Given the description of an element on the screen output the (x, y) to click on. 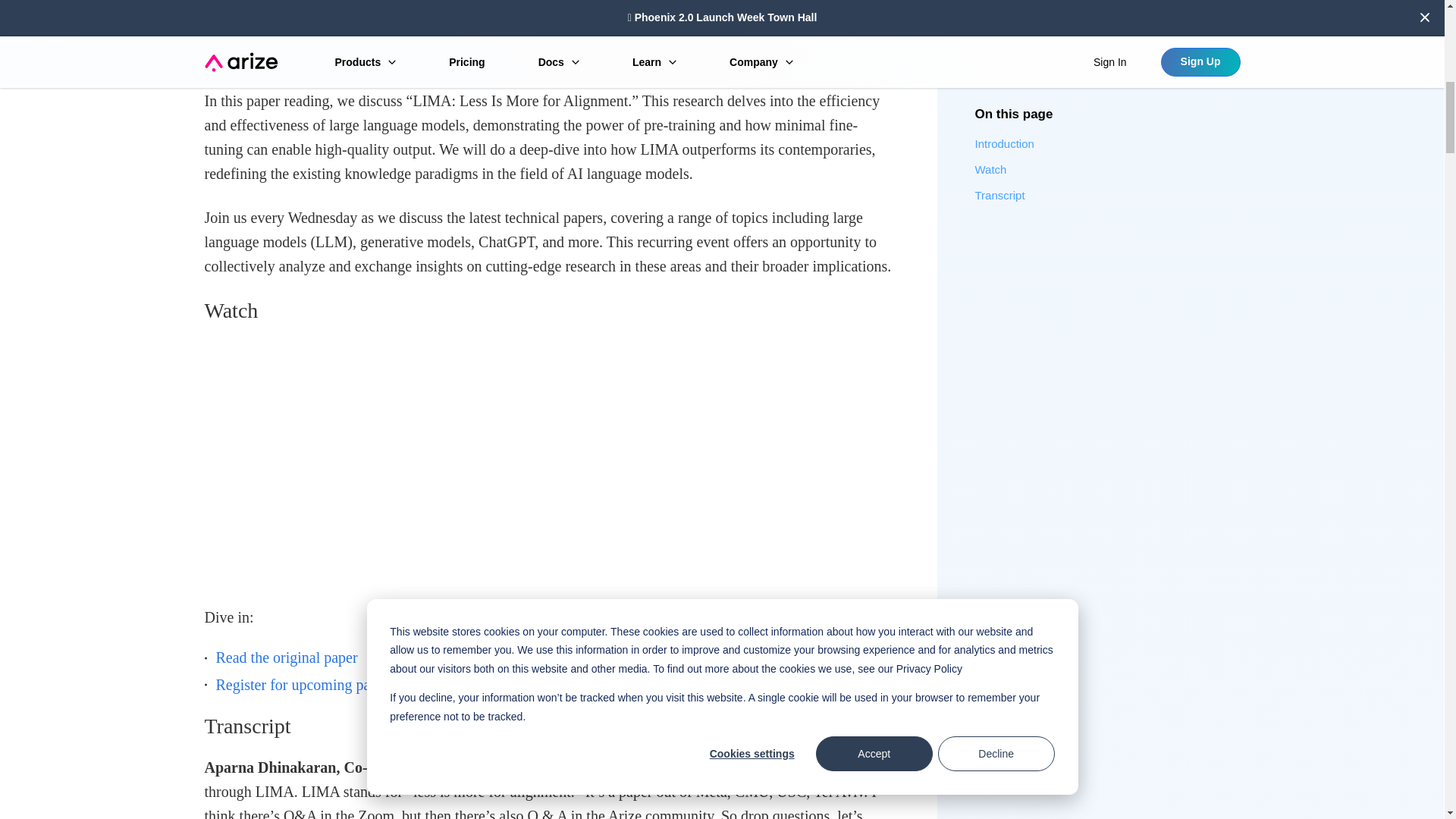
YouTube video player (416, 458)
